Given the description of an element on the screen output the (x, y) to click on. 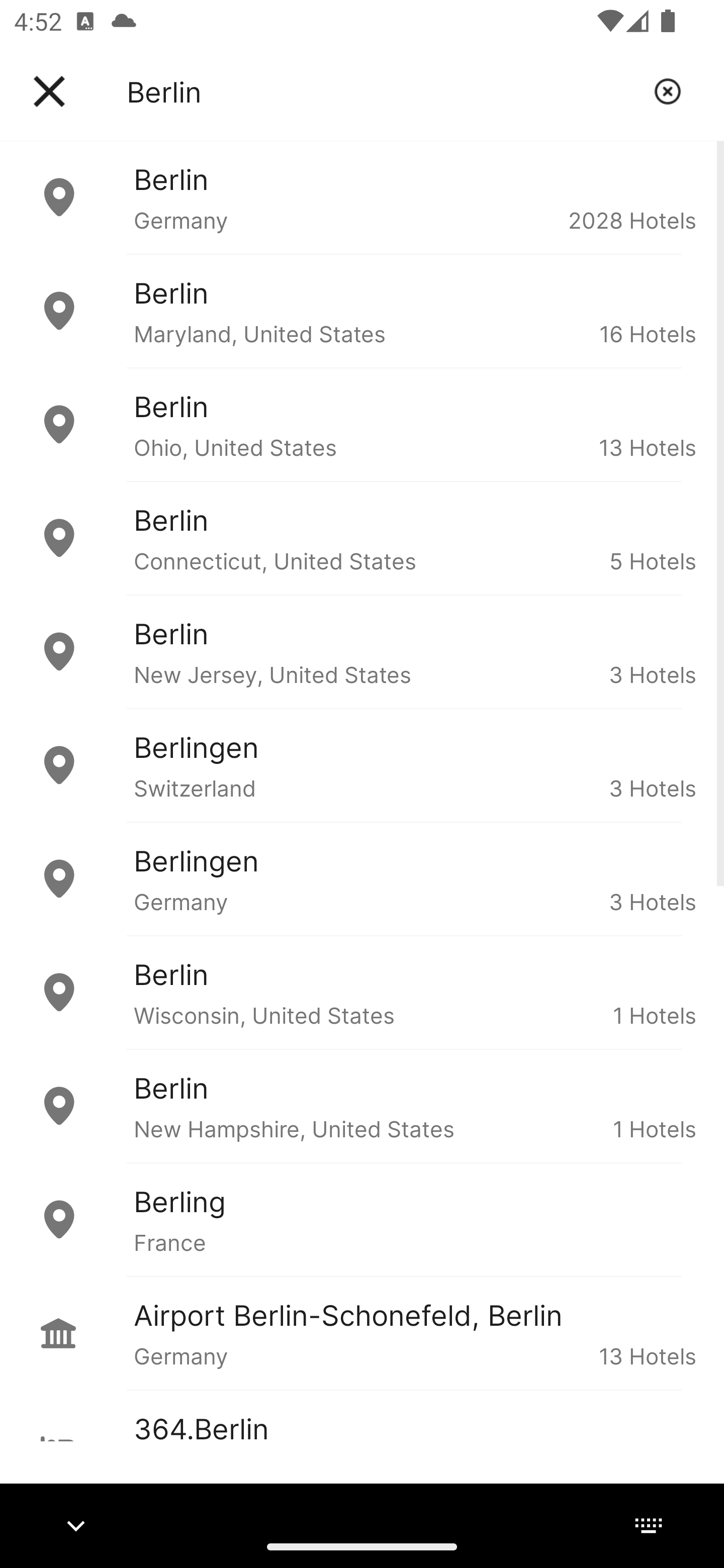
Berlin (382, 91)
Berlin Germany 2028 Hotels (362, 197)
Berlin Maryland, United States 16 Hotels (362, 310)
Berlin Ohio, United States 13 Hotels (362, 424)
Berlin Connecticut, United States 5 Hotels (362, 537)
Berlin New Jersey, United States 3 Hotels (362, 651)
Berlingen Switzerland 3 Hotels (362, 764)
Berlingen Germany 3 Hotels (362, 878)
Berlin Wisconsin, United States 1 Hotels (362, 992)
Berlin New Hampshire, United States 1 Hotels (362, 1105)
Berling France (362, 1219)
